Given the description of an element on the screen output the (x, y) to click on. 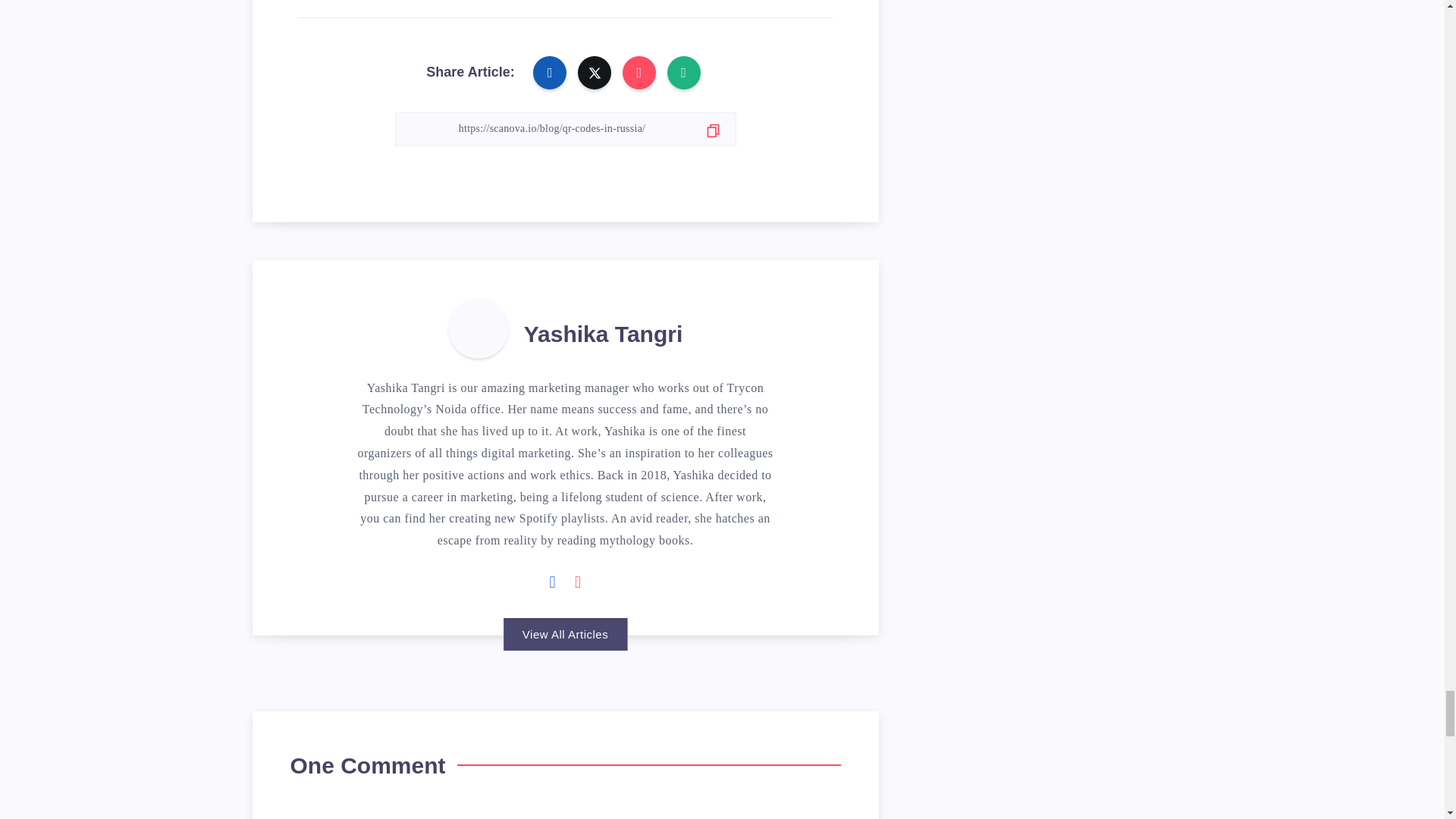
Author: Yashika Tangri (478, 328)
